Given the description of an element on the screen output the (x, y) to click on. 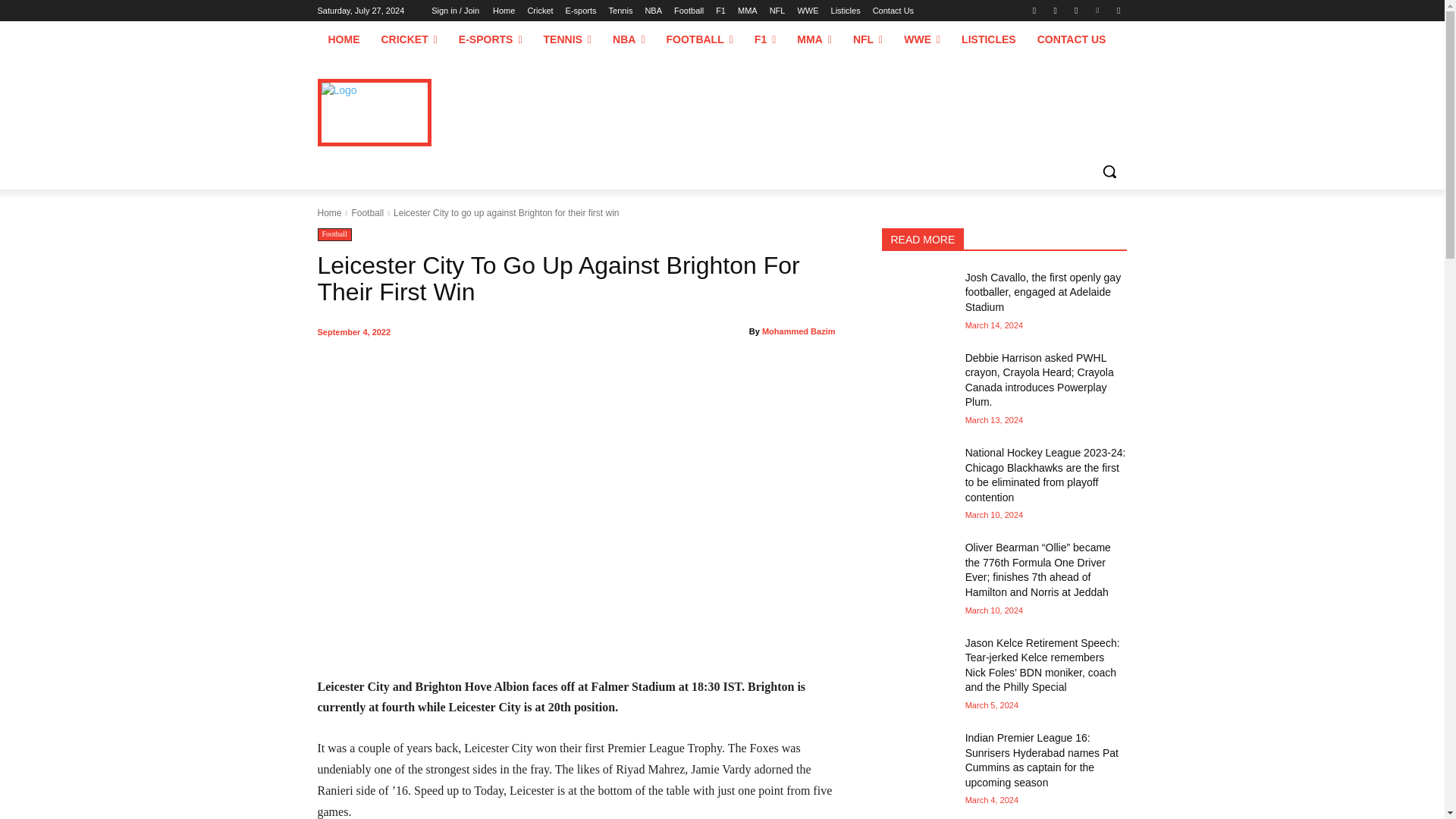
NBA (653, 10)
Contact Us (893, 10)
Home (504, 10)
MMA (747, 10)
F1 (720, 10)
Vimeo (1097, 9)
Listicles (845, 10)
Youtube (1117, 9)
E-sports (581, 10)
Twitter (1075, 9)
Tennis (620, 10)
Football (688, 10)
Cricket (540, 10)
WWE (807, 10)
Instagram (1055, 9)
